Given the description of an element on the screen output the (x, y) to click on. 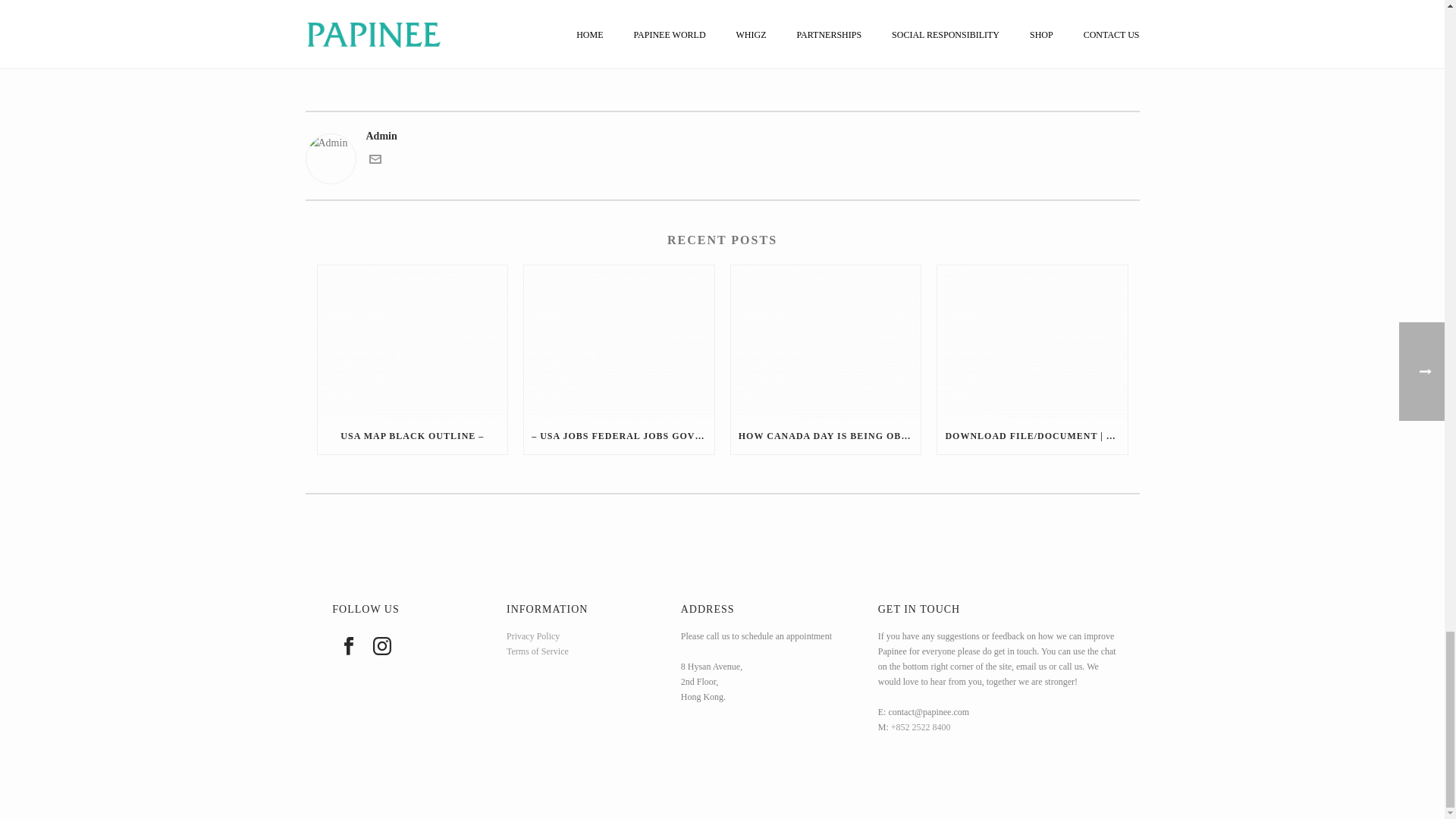
Follow Us on instagram (381, 646)
Admin (721, 135)
Follow Us on facebook (348, 646)
Get in touch with me via email (374, 161)
